Given the description of an element on the screen output the (x, y) to click on. 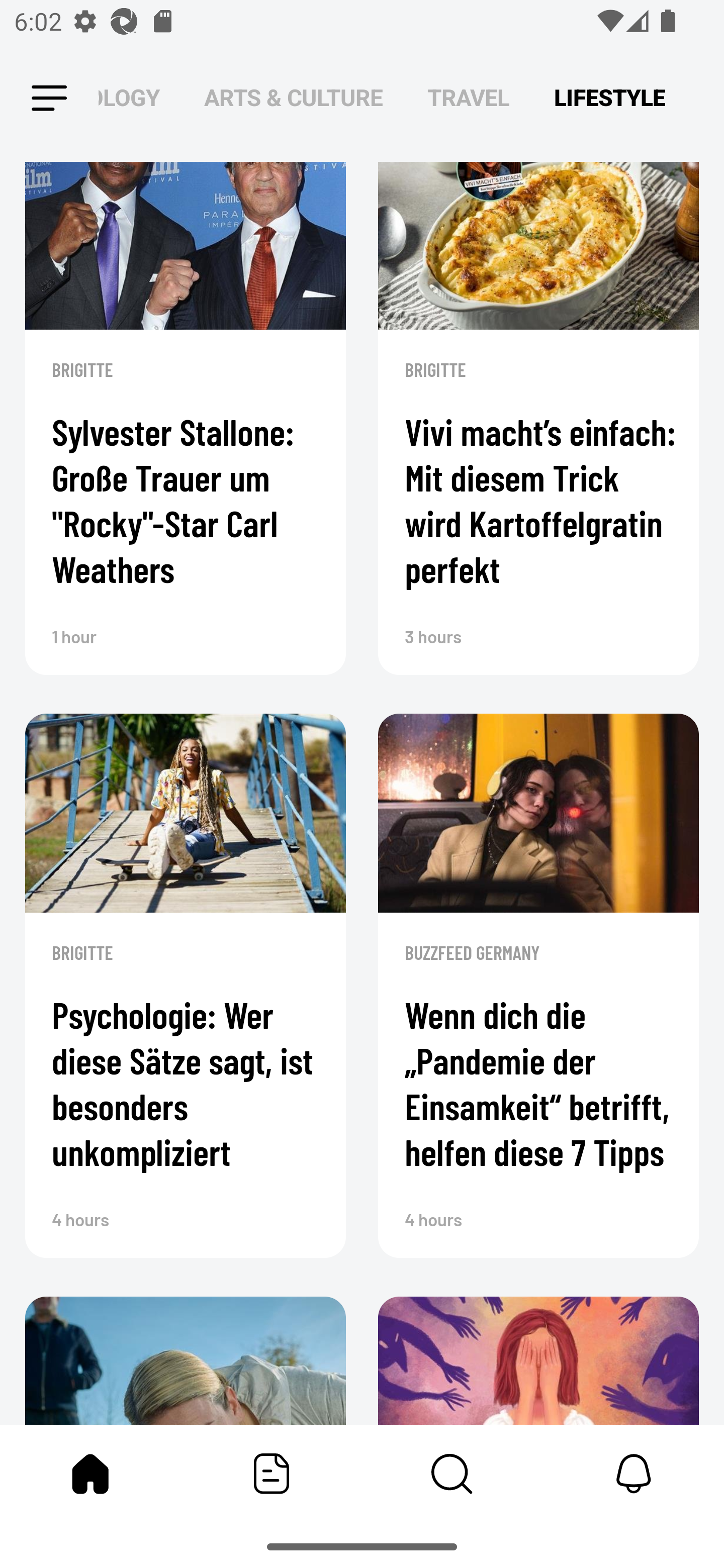
Leading Icon (49, 98)
TECHNOLOGY (129, 97)
ARTS & CULTURE (293, 97)
TRAVEL (468, 97)
Featured (271, 1473)
Content Store (452, 1473)
Notifications (633, 1473)
